Given the description of an element on the screen output the (x, y) to click on. 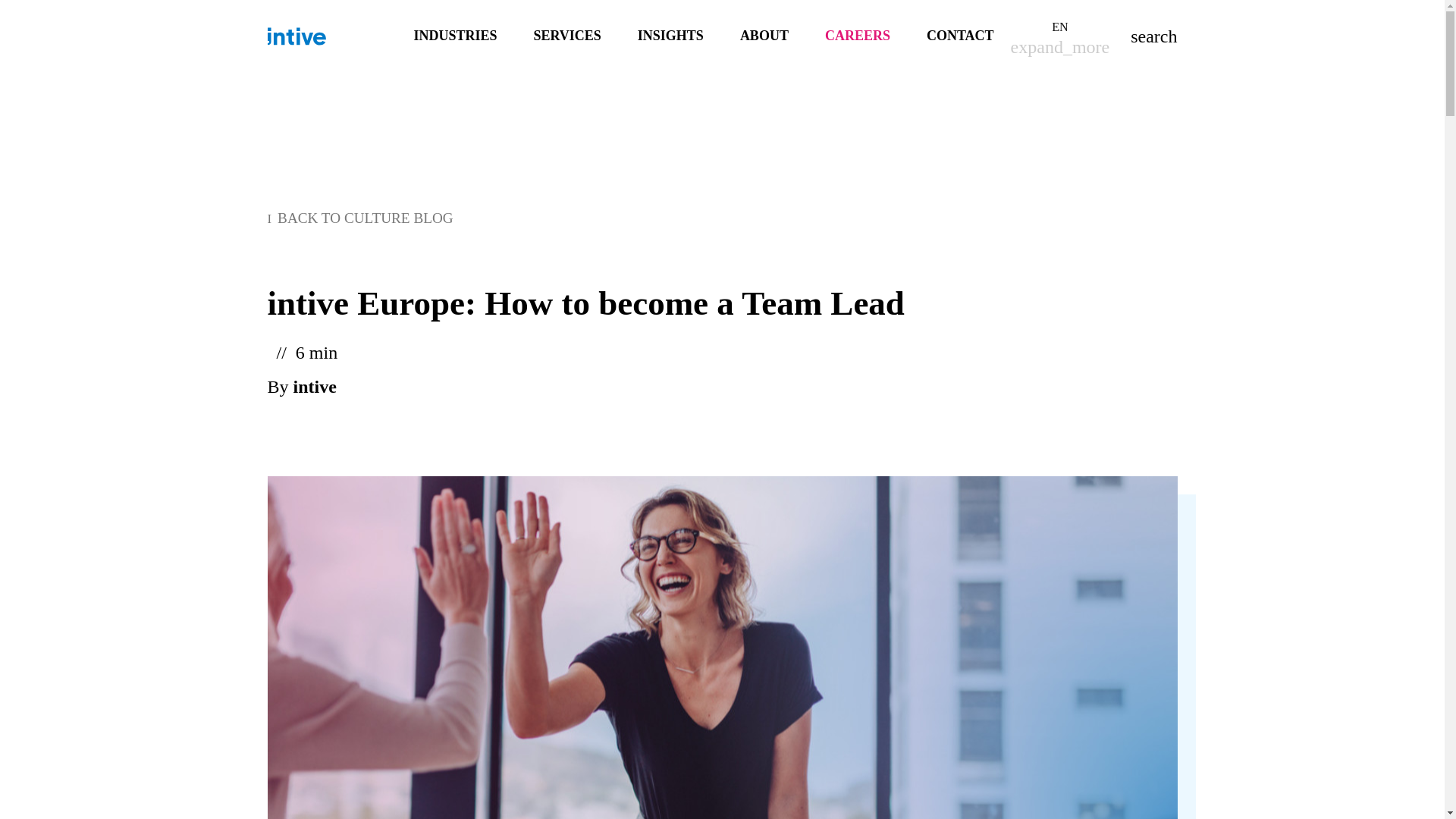
Intive - Never Settle (295, 36)
BACK TO CULTURE BLOG (359, 217)
INDUSTRIES (454, 36)
SERVICES (565, 36)
ABOUT (764, 36)
CAREERS (857, 36)
CONTACT (960, 36)
INSIGHTS (670, 36)
